Given the description of an element on the screen output the (x, y) to click on. 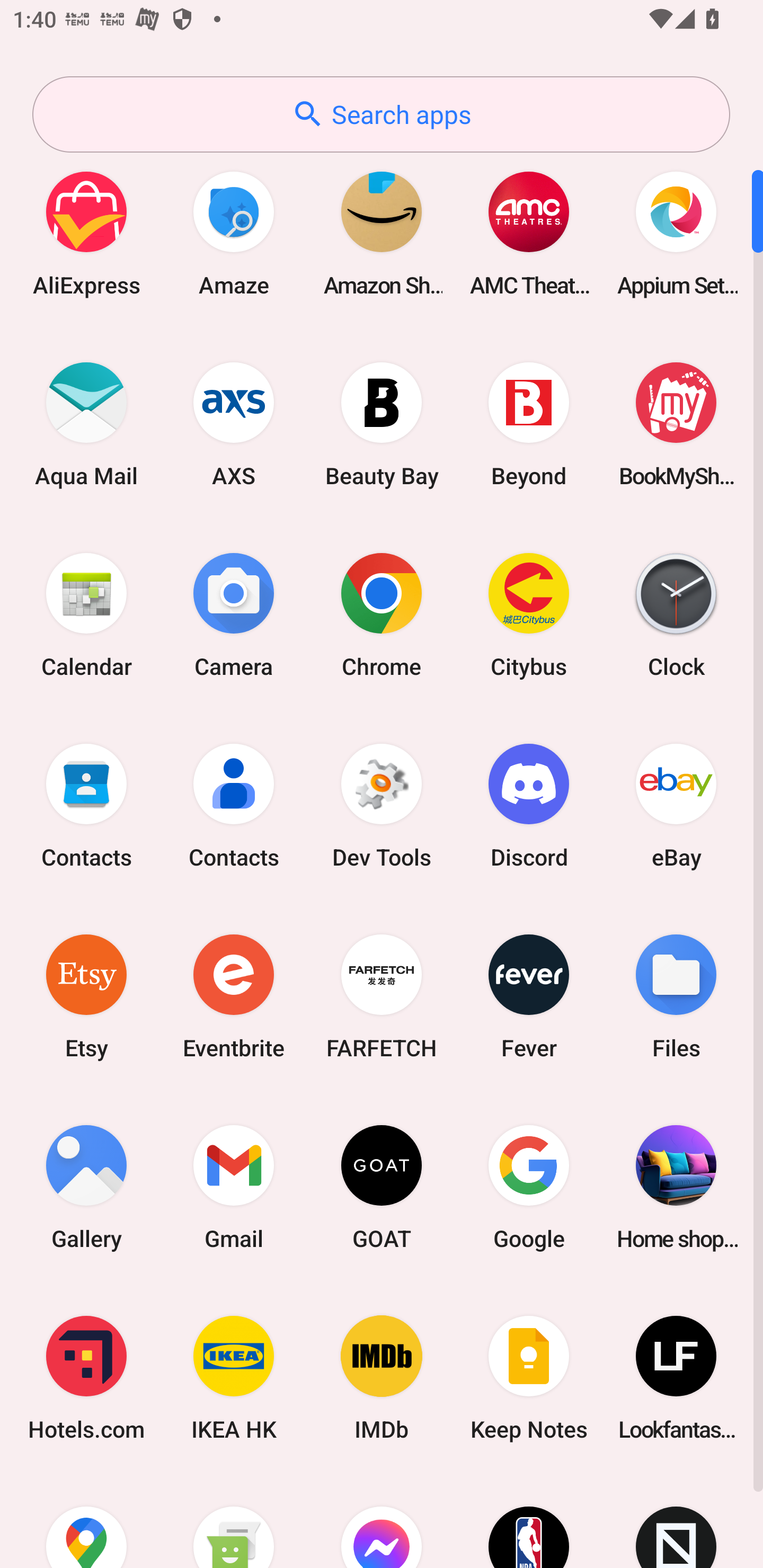
  Search apps (381, 114)
AliExpress (86, 233)
Amaze (233, 233)
Amazon Shopping (381, 233)
AMC Theatres (528, 233)
Appium Settings (676, 233)
Aqua Mail (86, 424)
AXS (233, 424)
Beauty Bay (381, 424)
Beyond (528, 424)
BookMyShow (676, 424)
Calendar (86, 614)
Camera (233, 614)
Chrome (381, 614)
Citybus (528, 614)
Clock (676, 614)
Contacts (86, 805)
Contacts (233, 805)
Dev Tools (381, 805)
Discord (528, 805)
eBay (676, 805)
Etsy (86, 996)
Eventbrite (233, 996)
FARFETCH (381, 996)
Fever (528, 996)
Files (676, 996)
Gallery (86, 1186)
Gmail (233, 1186)
GOAT (381, 1186)
Google (528, 1186)
Home shopping (676, 1186)
Hotels.com (86, 1377)
IKEA HK (233, 1377)
IMDb (381, 1377)
Keep Notes (528, 1377)
Lookfantastic (676, 1377)
